Given the description of an element on the screen output the (x, y) to click on. 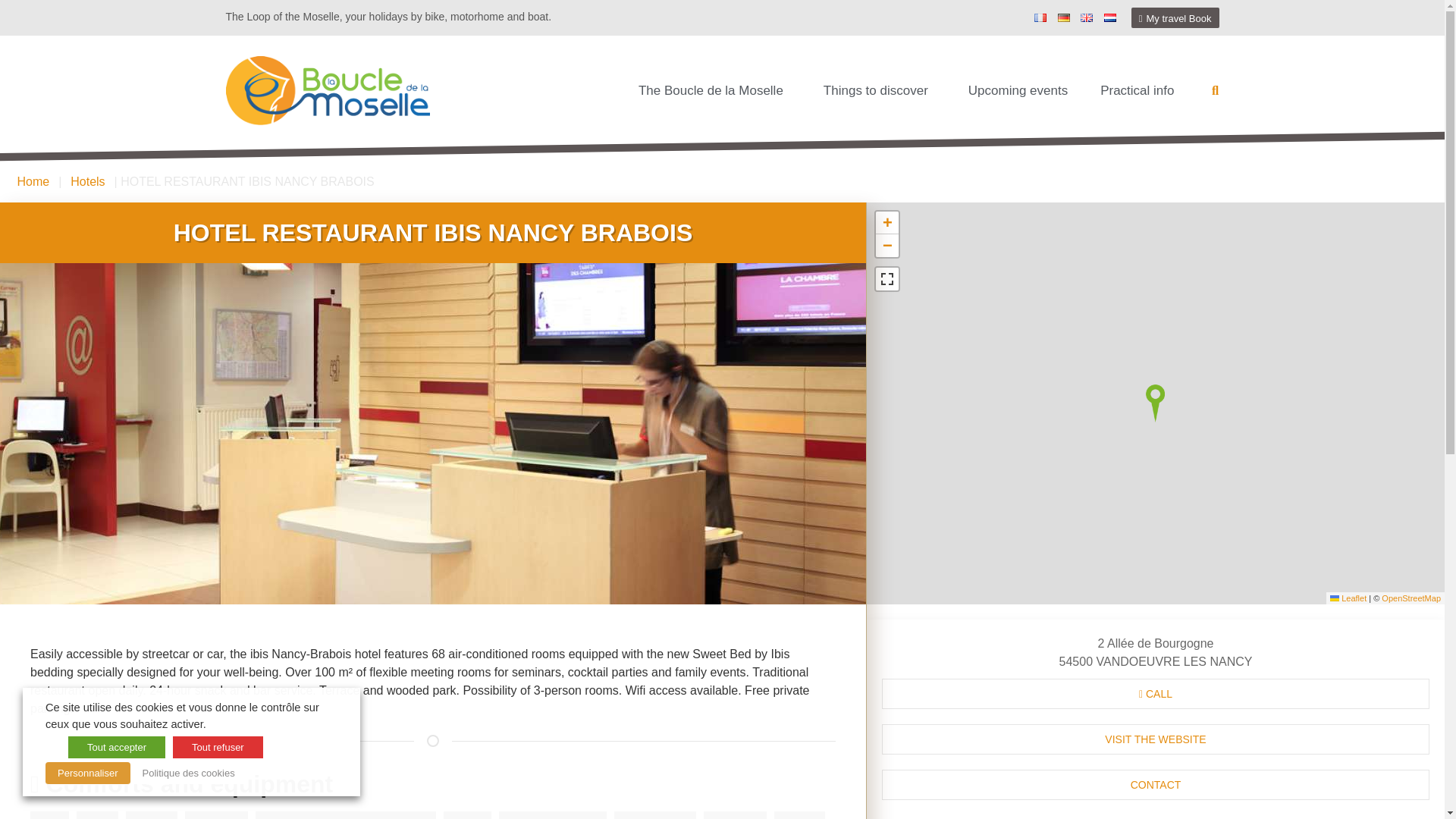
A JavaScript library for interactive maps (1348, 596)
Practical info (1140, 91)
Things to discover (879, 91)
The Boucle de la Moselle (714, 91)
Zoom in (887, 222)
Upcoming events (1018, 91)
View Fullscreen (887, 278)
Zoom out (887, 245)
3etoiles (436, 273)
My travel Book (1175, 17)
